Given the description of an element on the screen output the (x, y) to click on. 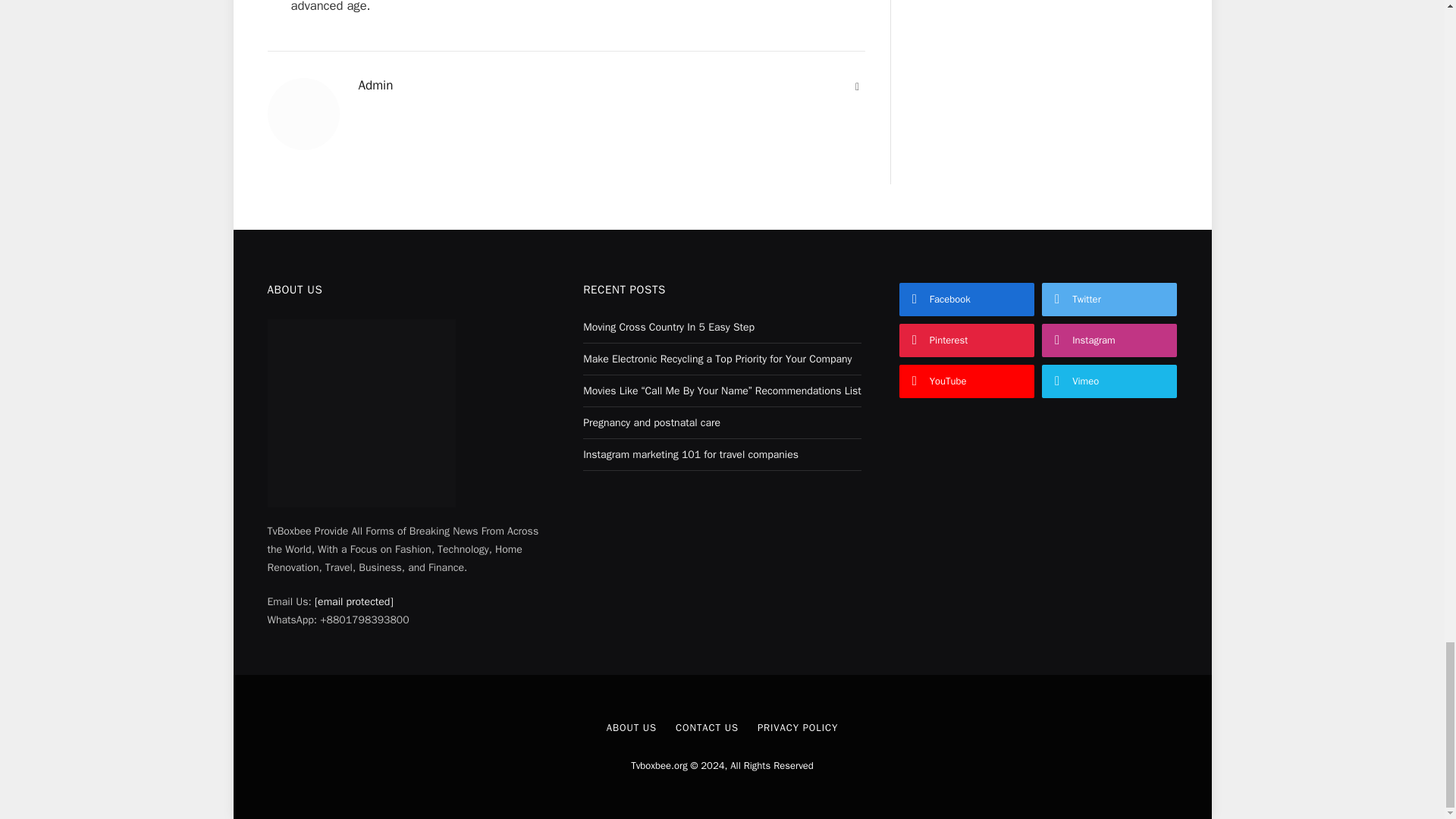
Admin (375, 85)
Website (856, 87)
Website (856, 87)
Posts by Admin (375, 85)
